Given the description of an element on the screen output the (x, y) to click on. 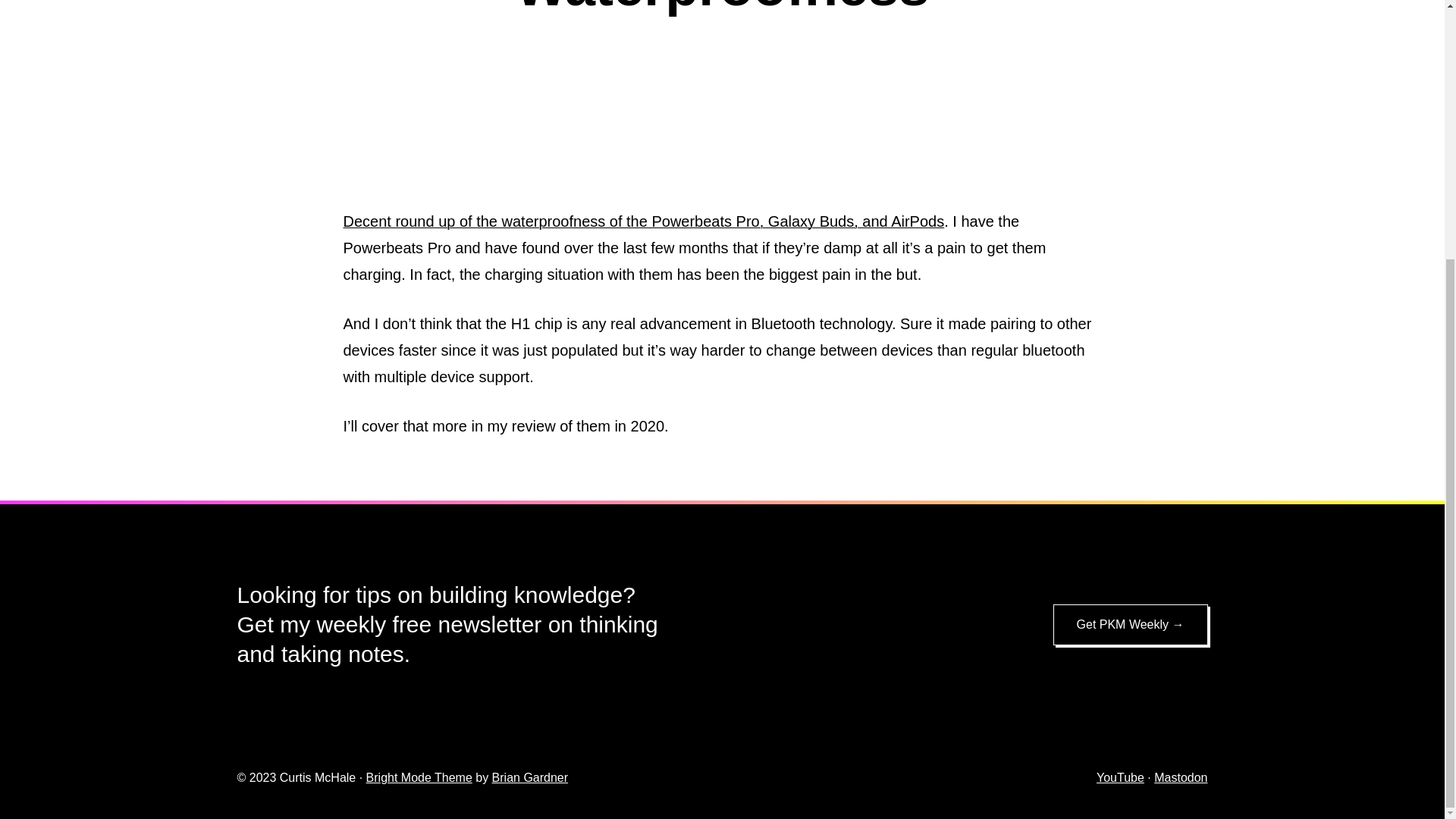
Bright Mode Theme (418, 777)
Brian Gardner (530, 777)
YouTube (1120, 777)
Mastodon (1180, 777)
